Given the description of an element on the screen output the (x, y) to click on. 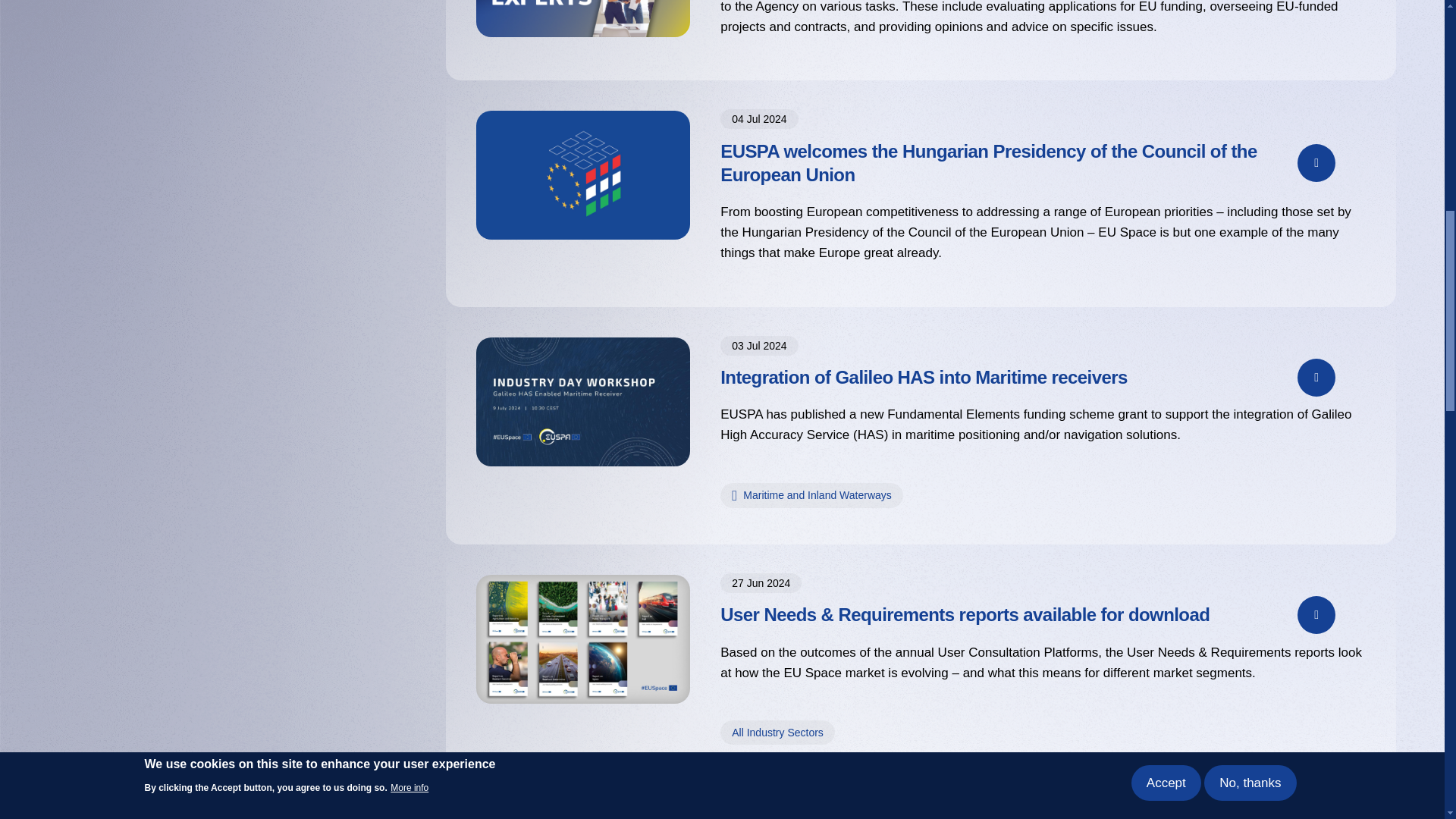
European Union Agency for the Space Programme (740, 414)
High Accuracy Service (870, 434)
